Given the description of an element on the screen output the (x, y) to click on. 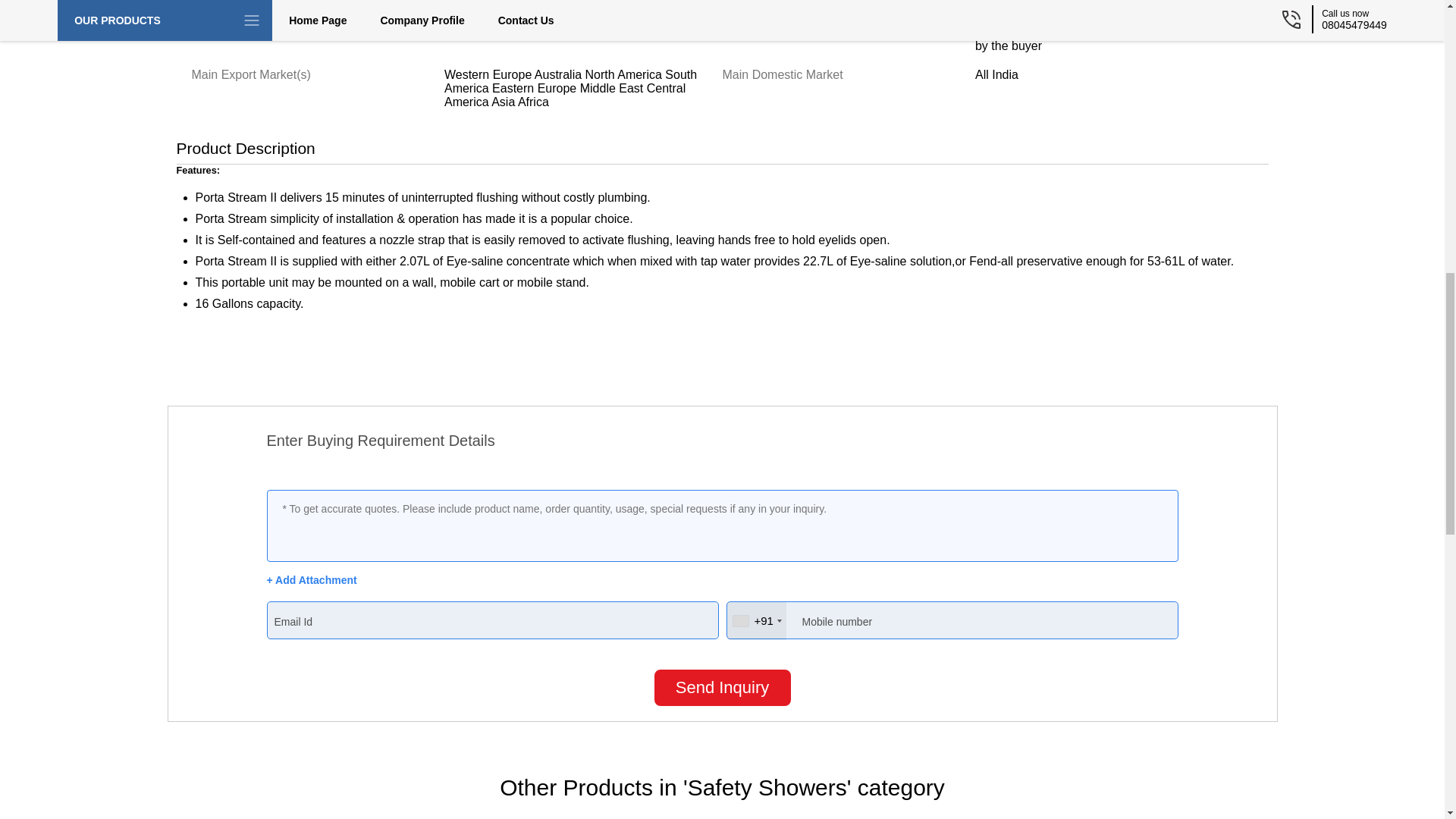
Send Inquiry (721, 687)
